Given the description of an element on the screen output the (x, y) to click on. 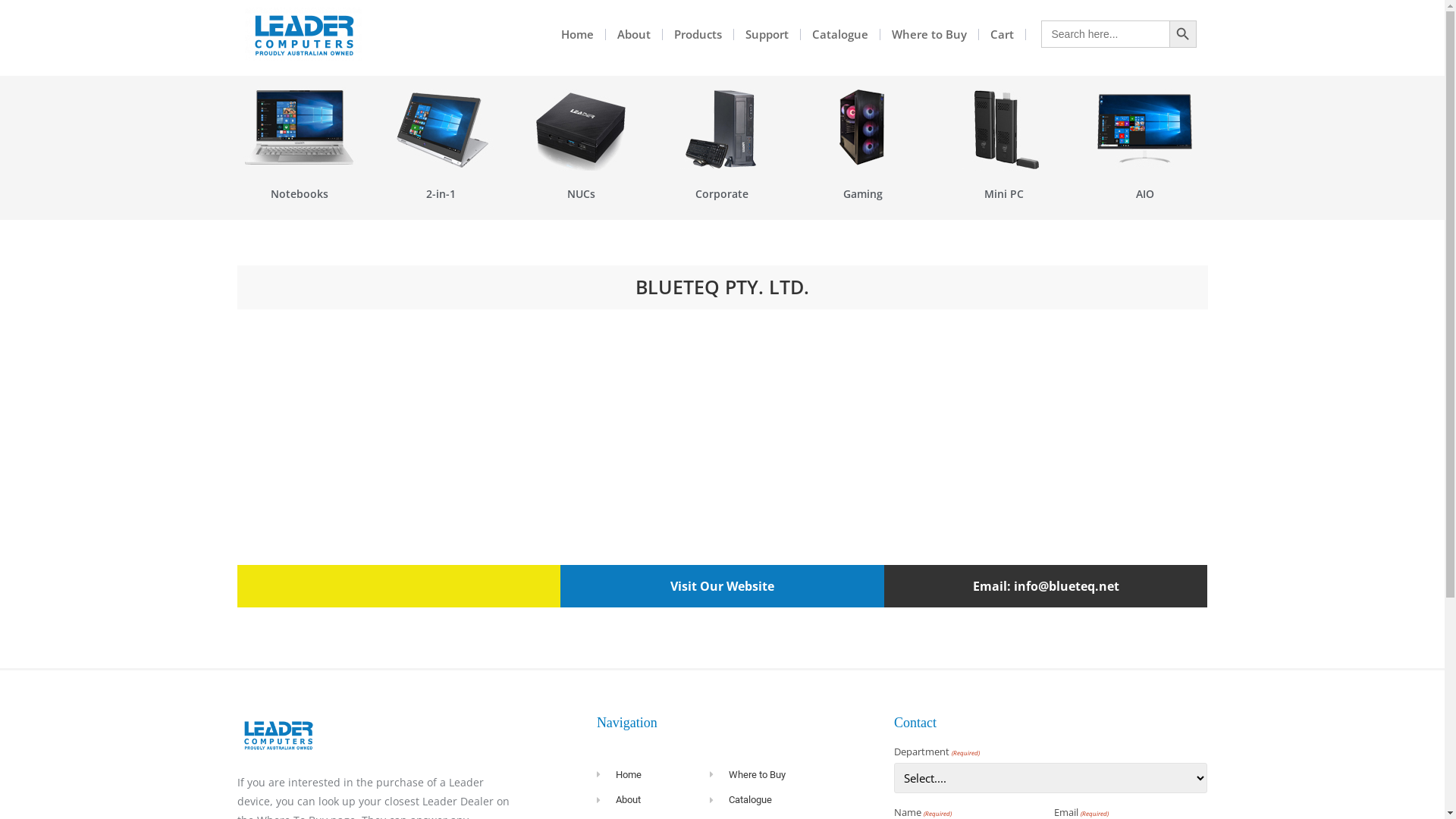
Where to Buy Element type: text (793, 774)
Notebooks Element type: text (299, 193)
Products Element type: text (698, 34)
Support Element type: text (767, 34)
Leader Computers Element type: hover (302, 33)
Mini PC Element type: text (1003, 193)
About Element type: text (652, 799)
Home Element type: text (652, 774)
405 Wattletree Road Element type: hover (721, 438)
Where to Buy Element type: text (929, 34)
Search Button Element type: text (1182, 33)
AIO Element type: text (1144, 193)
Catalogue Element type: text (793, 799)
2-in-1 Element type: text (440, 193)
Gaming Element type: text (862, 193)
NUCs Element type: text (581, 193)
About Element type: text (633, 34)
Catalogue Element type: text (840, 34)
Cart Element type: text (1002, 34)
Home Element type: text (577, 34)
Corporate Element type: text (721, 193)
